Given the description of an element on the screen output the (x, y) to click on. 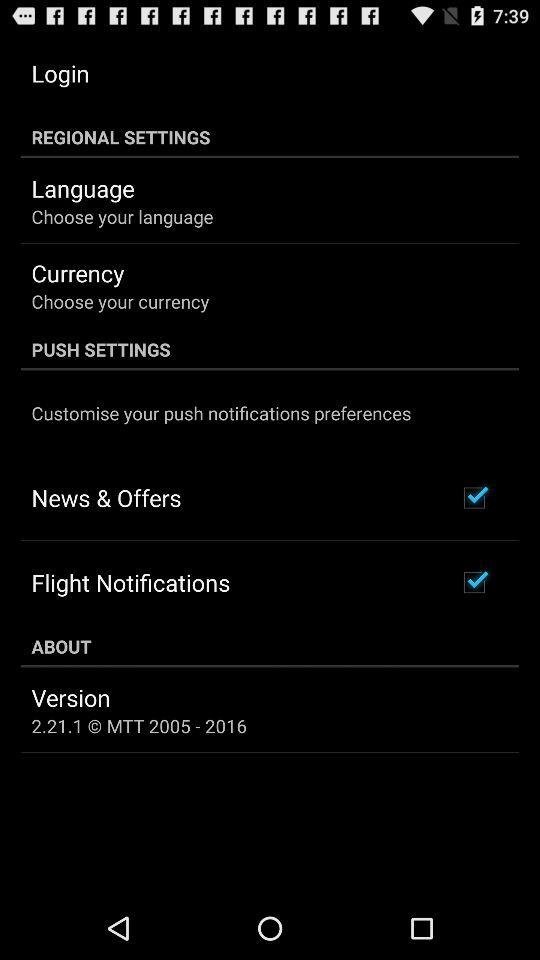
open the about at the bottom (270, 646)
